Given the description of an element on the screen output the (x, y) to click on. 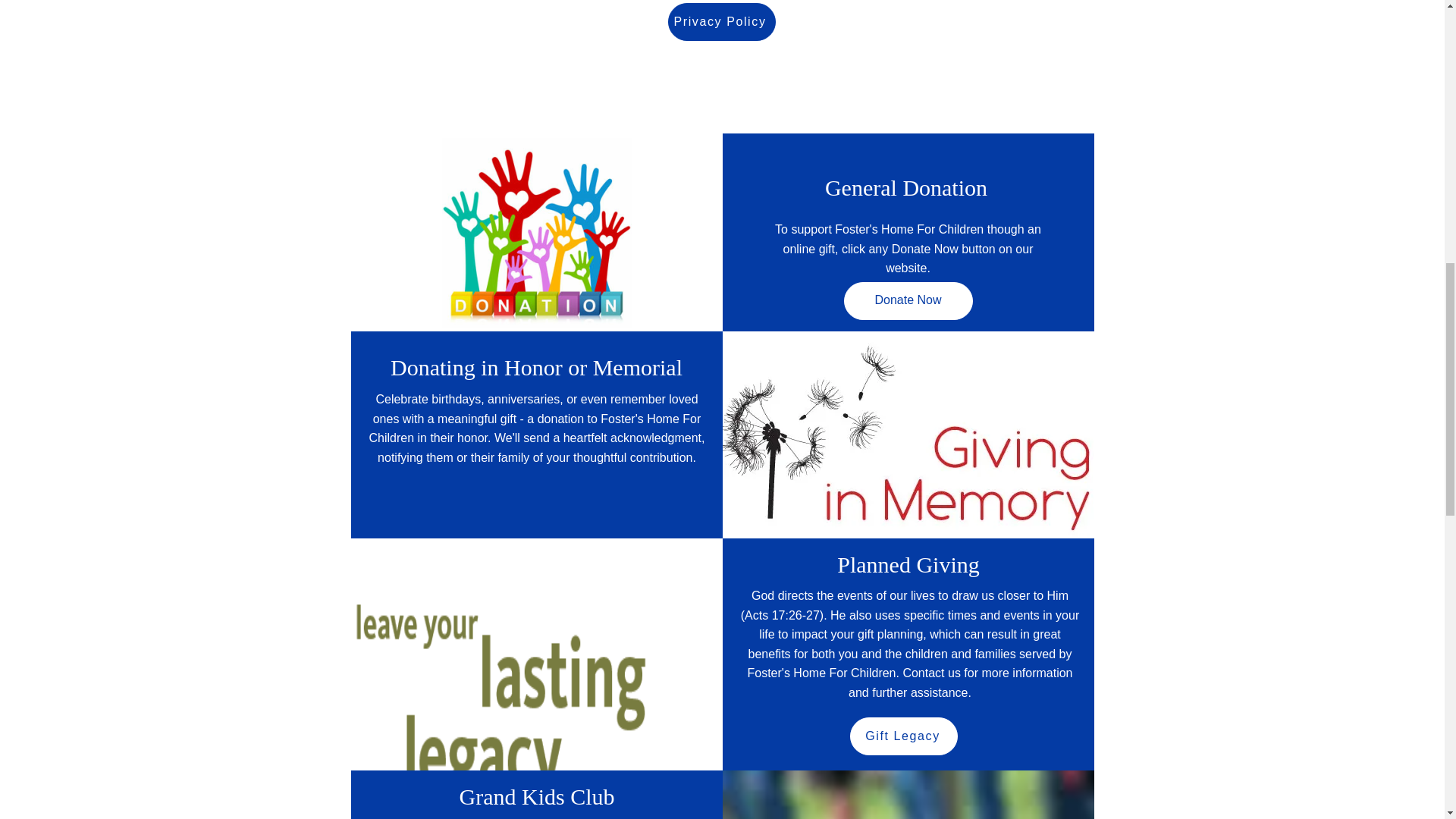
Gift Legacy (902, 736)
Donate Now (907, 300)
Privacy Policy (720, 21)
